Given the description of an element on the screen output the (x, y) to click on. 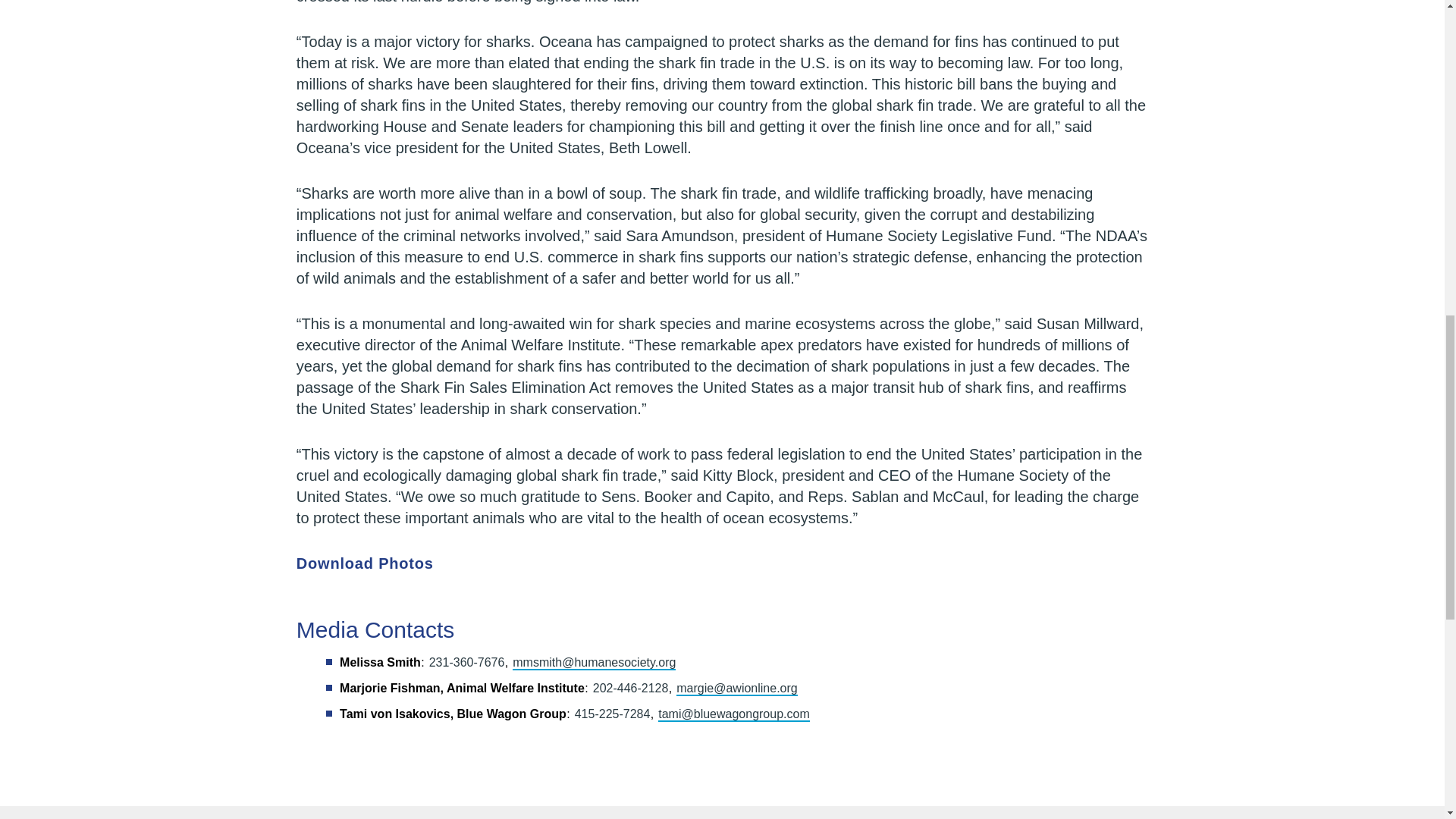
Download Photos (373, 563)
415-225-7284 (612, 713)
231-360-7676 (467, 662)
202-446-2128 (630, 687)
